Given the description of an element on the screen output the (x, y) to click on. 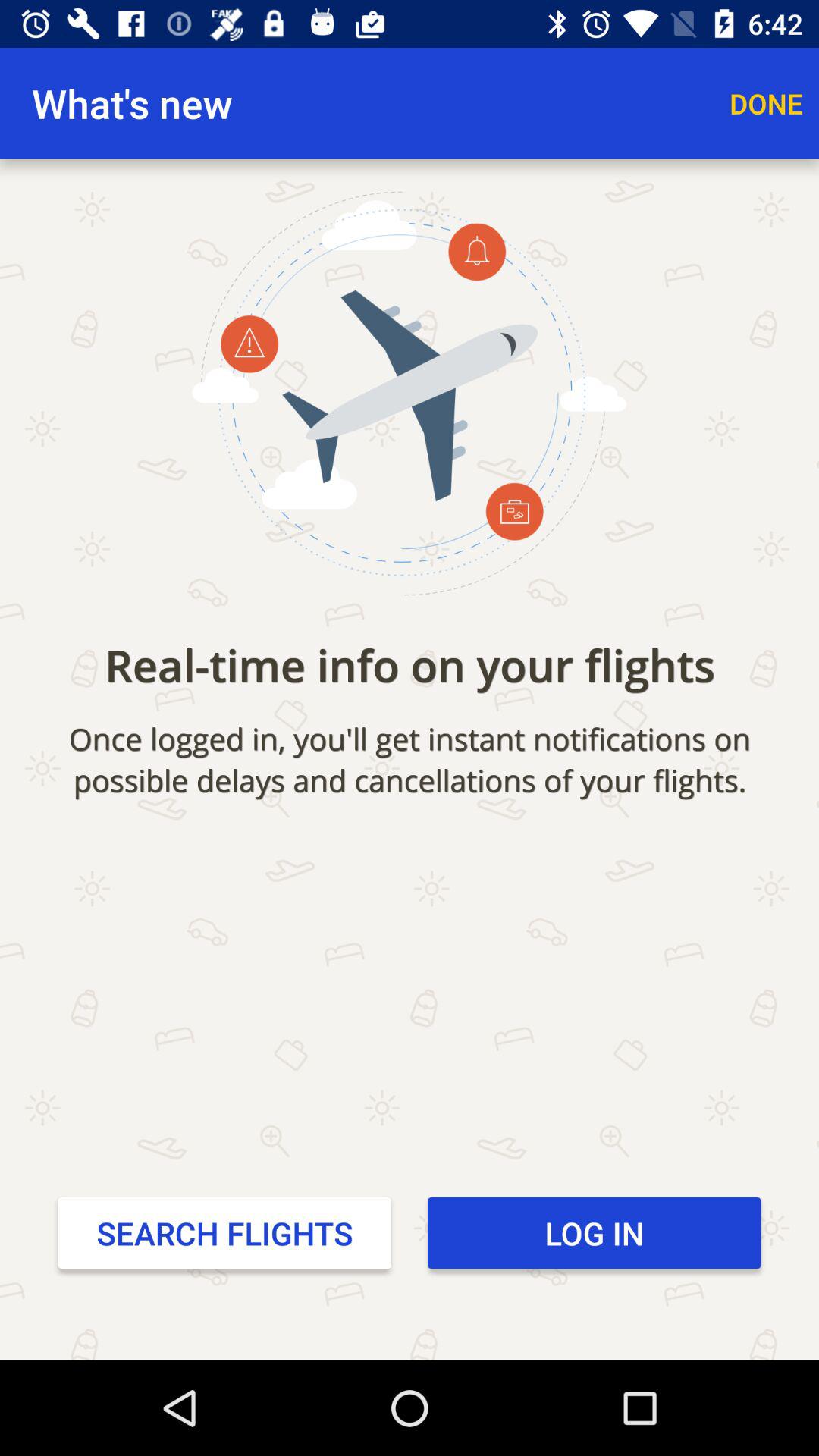
open the done item (766, 103)
